Given the description of an element on the screen output the (x, y) to click on. 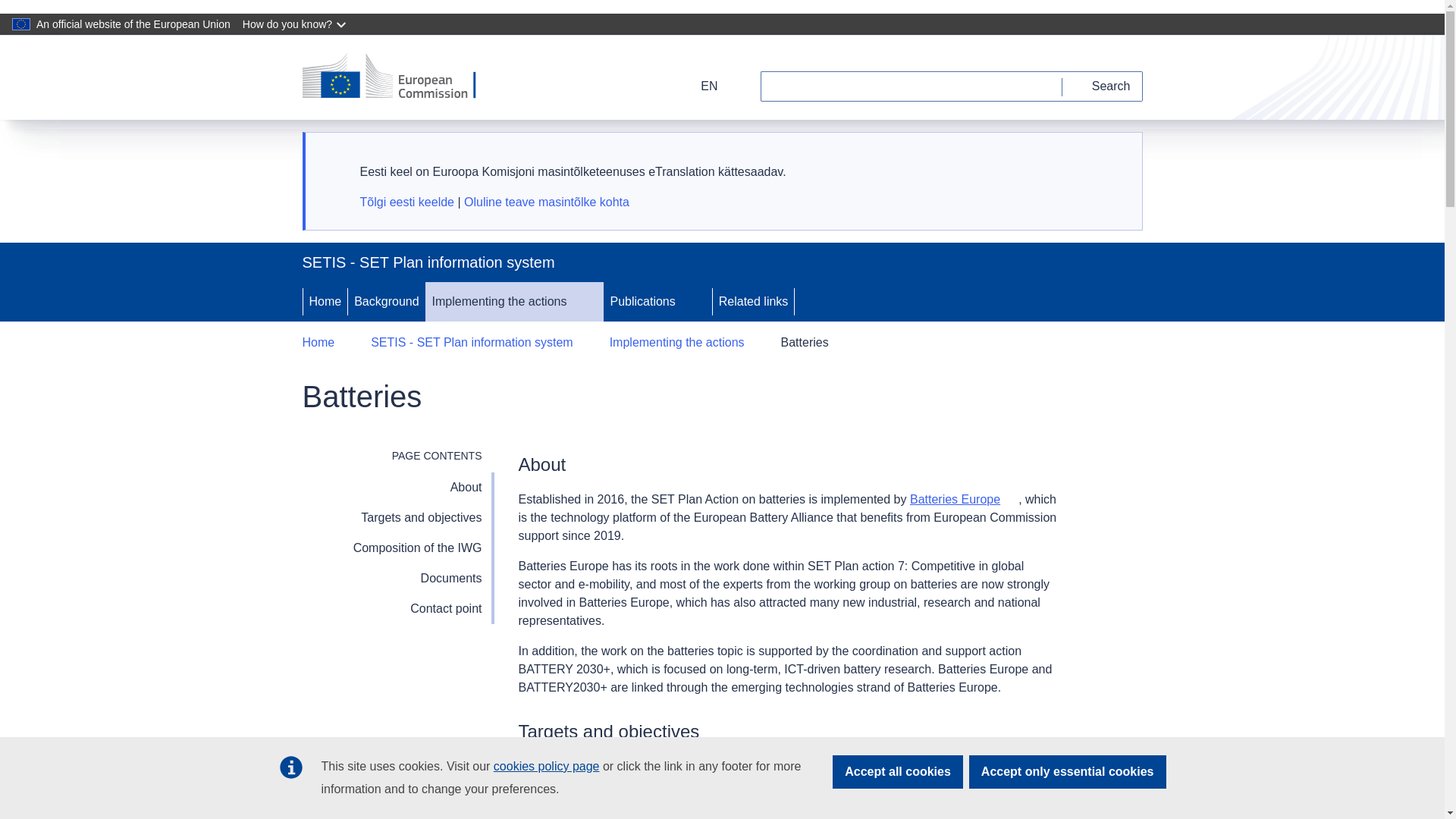
Accept only essential cookies (1067, 771)
How do you know? (295, 24)
Publications (641, 301)
Implementing the actions (498, 301)
European Commission (399, 77)
Search (1102, 86)
cookies policy page (546, 766)
Accept all cookies (897, 771)
Background (386, 301)
Sulge teade (1112, 159)
Home (324, 301)
EN (699, 86)
